Given the description of an element on the screen output the (x, y) to click on. 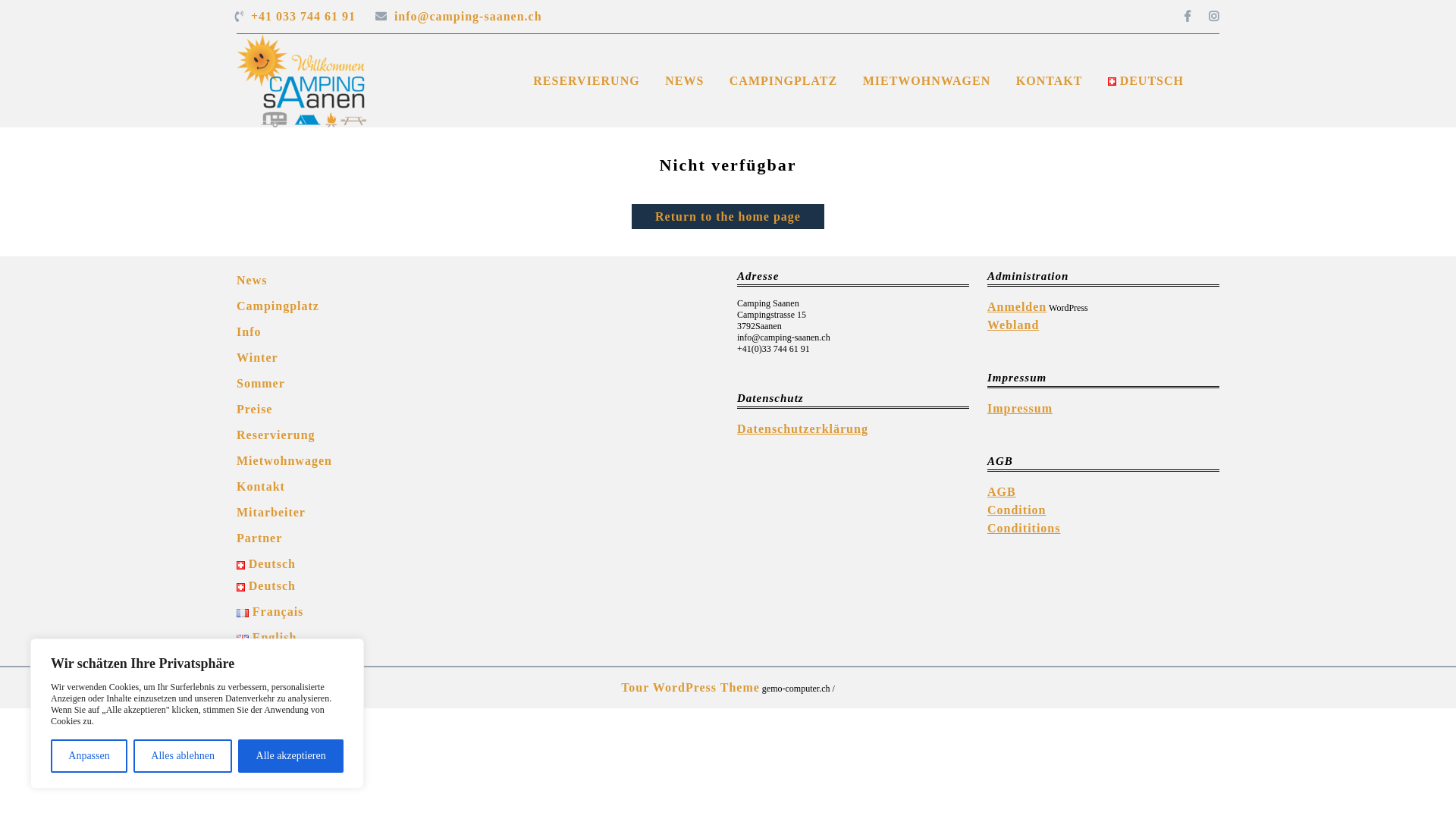
Mietwohnwagen Element type: text (284, 460)
Alles ablehnen Element type: text (182, 755)
MIETWOHNWAGEN Element type: text (926, 80)
Facebook Element type: text (1180, 15)
Mitarbeiter Element type: text (270, 511)
News Element type: text (251, 279)
RESERVIERUNG Element type: text (585, 80)
Winter Element type: text (257, 357)
AGB Element type: text (1001, 491)
Kontakt Element type: text (260, 486)
Campingplatz Element type: text (277, 305)
Anmelden Element type: text (1016, 306)
Anpassen Element type: text (88, 755)
Tour WordPress Theme Element type: text (690, 686)
Sommer Element type: text (260, 382)
DEUTSCH Element type: text (1145, 80)
English Element type: text (266, 636)
Deutsch Element type: text (265, 585)
Condition Element type: text (1016, 509)
Deutsch Element type: text (265, 563)
CAMPINGPLATZ Element type: text (783, 80)
info@camping-saanen.ch Element type: text (472, 16)
KONTAKT Element type: text (1049, 80)
Return to the home page
Return to the home page Element type: text (727, 216)
Webland Element type: text (1012, 324)
NEWS Element type: text (684, 80)
+41 033 744 61 91 Element type: text (307, 16)
Preise Element type: text (254, 408)
Partner Element type: text (259, 537)
Impressum Element type: text (1019, 407)
Info Element type: text (248, 331)
Instagram Element type: text (1206, 15)
Reservierung Element type: text (275, 434)
Alle akzeptieren Element type: text (290, 755)
Condititions Element type: text (1023, 527)
